Given the description of an element on the screen output the (x, y) to click on. 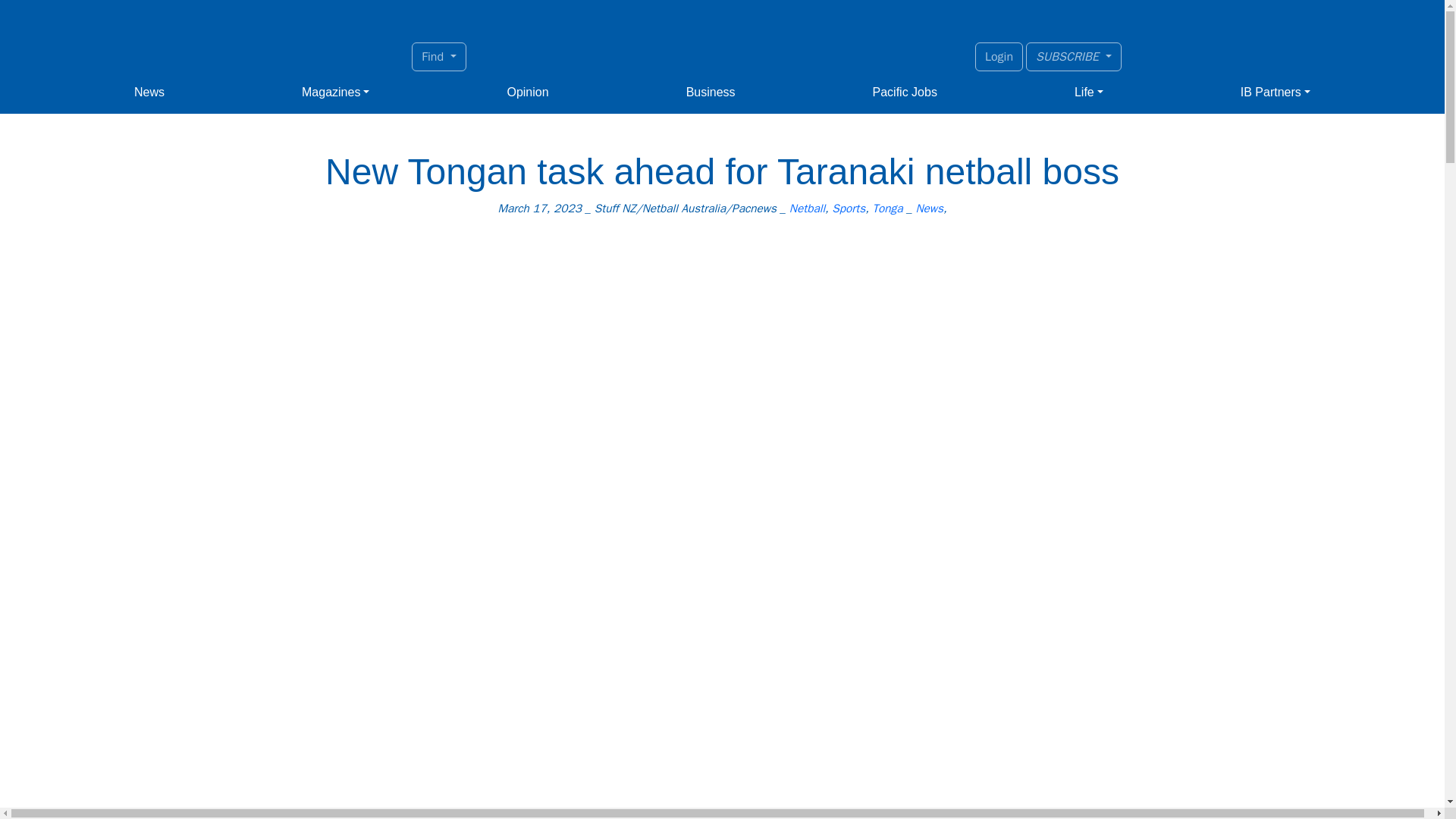
Find (438, 56)
Pacific Jobs (904, 91)
Login (999, 56)
IB Partners (1275, 91)
Opinion (527, 91)
Login (999, 56)
News (149, 91)
Business (710, 91)
Life (1088, 91)
Magazines (335, 91)
SUBSCRIBE (1073, 56)
